Given the description of an element on the screen output the (x, y) to click on. 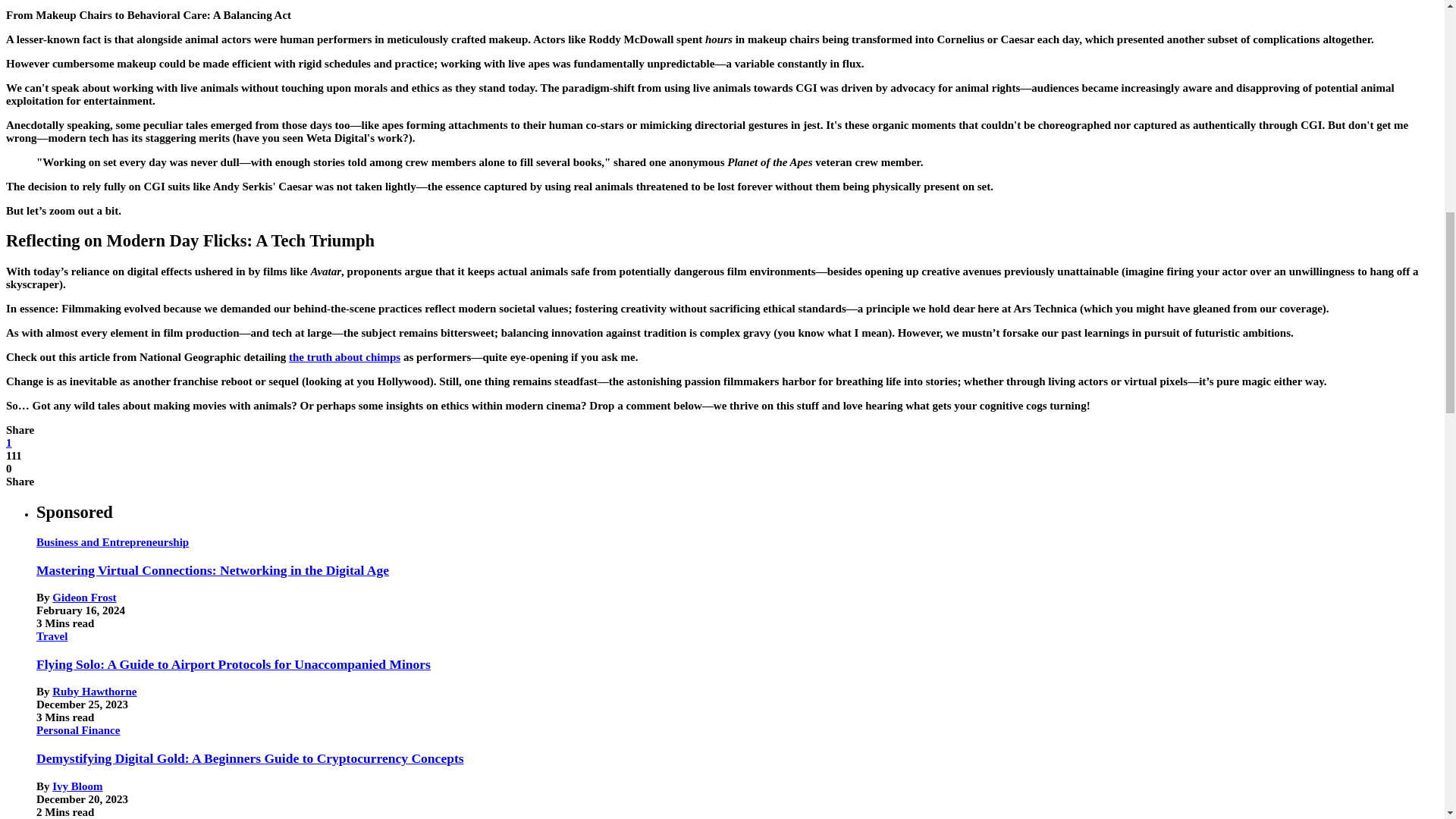
Business and Entrepreneurship (112, 541)
Gideon Frost (84, 597)
the truth about chimps (344, 357)
Ruby Hawthorne (94, 691)
Personal Finance (77, 729)
Travel (51, 635)
Mastering Virtual Connections: Networking in the Digital Age (212, 570)
